Given the description of an element on the screen output the (x, y) to click on. 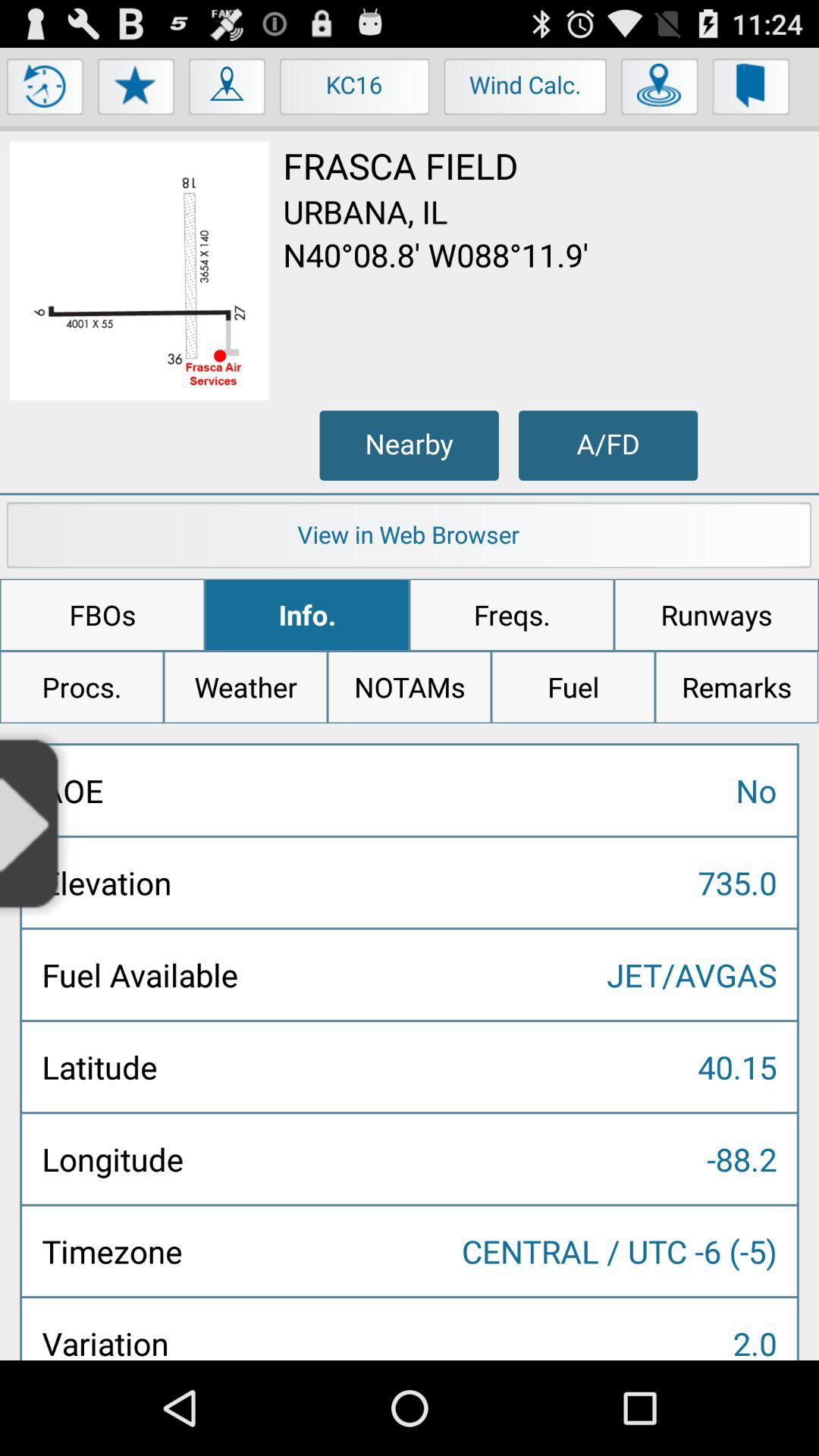
turn on the icon below view in web item (102, 615)
